Given the description of an element on the screen output the (x, y) to click on. 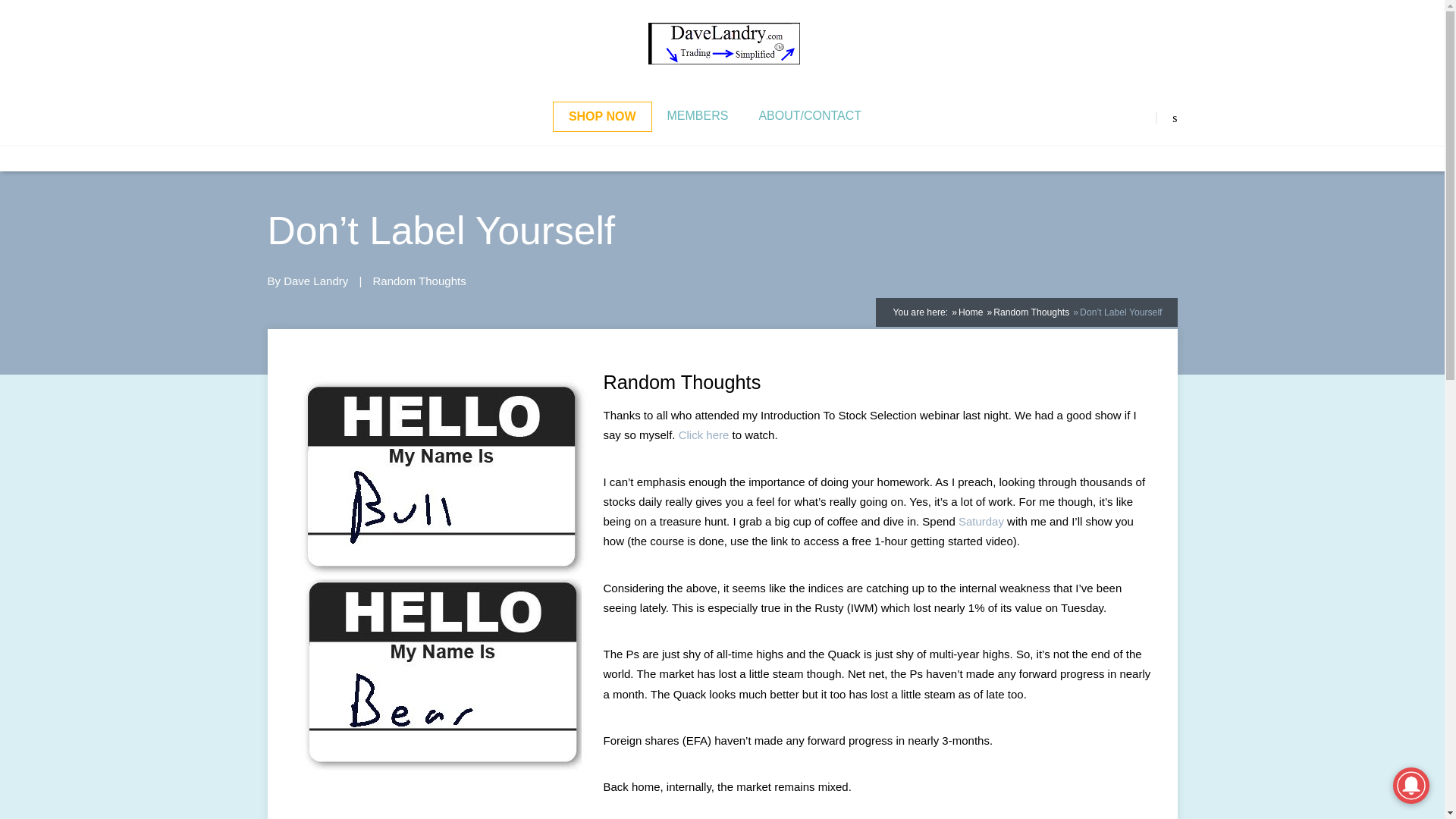
Random Thoughts (1030, 312)
MEMBERS (697, 115)
Home (971, 312)
Click here (703, 434)
Dave Landry (315, 280)
SHOP NOW (602, 116)
Saturday (981, 521)
Random Thoughts (418, 280)
